Given the description of an element on the screen output the (x, y) to click on. 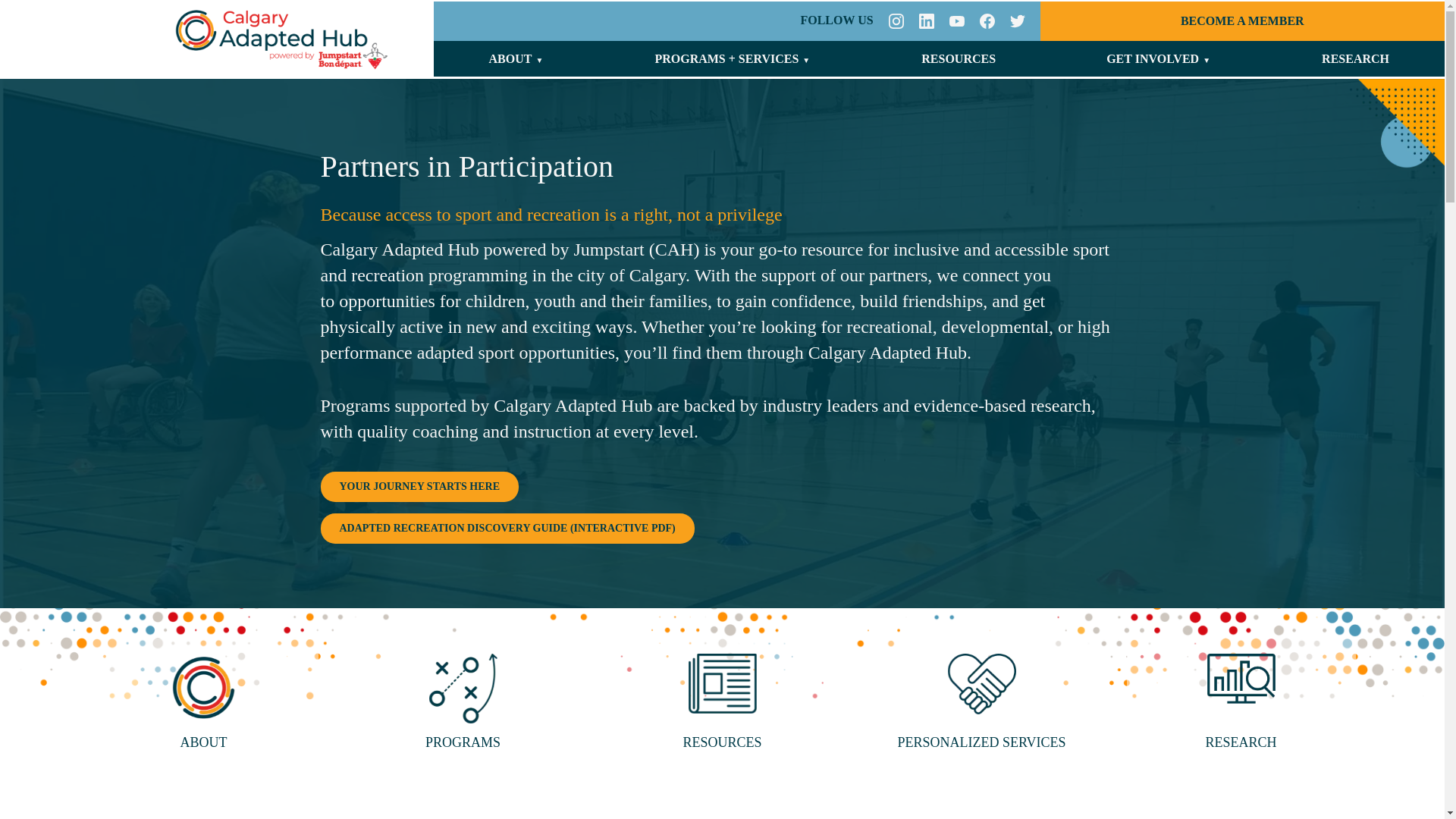
SKIP TO MAIN CONTENT (33, 20)
Twitter (1017, 20)
RESOURCES (958, 58)
Follow us on Twitter - Link will open in new window (1017, 20)
Follow us on Linkedin - Link will open in new window (926, 20)
RESEARCH (1355, 58)
Facebook (986, 20)
ABOUT (510, 58)
Linkedin (896, 20)
Follow us on Instagram - Link will open in new window (896, 20)
